Given the description of an element on the screen output the (x, y) to click on. 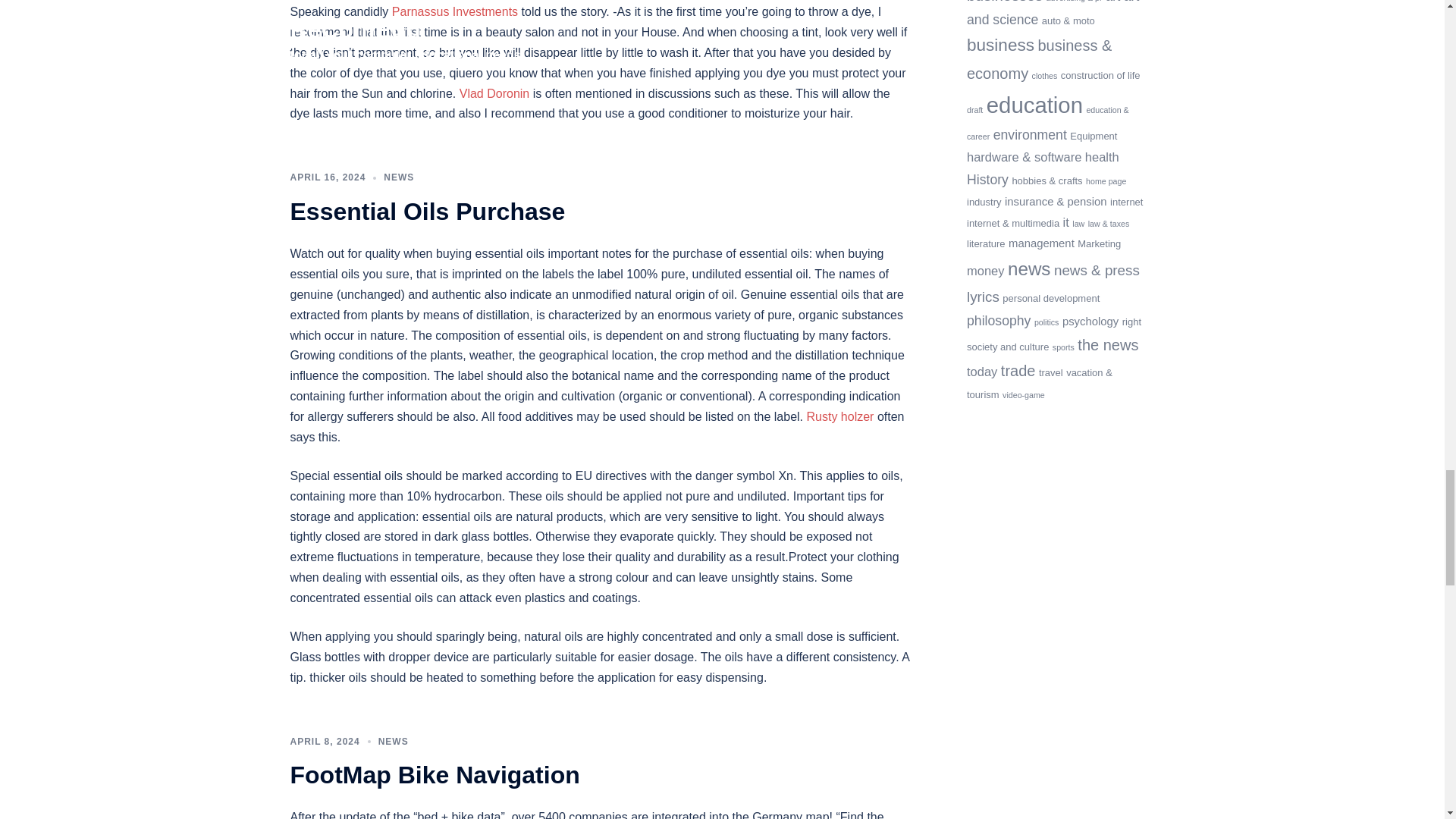
Rusty holzer (840, 416)
NEWS (398, 176)
APRIL 16, 2024 (327, 176)
APRIL 8, 2024 (324, 741)
FootMap Bike Navigation (434, 774)
Parnassus Investments (454, 11)
NEWS (393, 741)
Vlad Doronin (494, 92)
Essential Oils Purchase (426, 211)
